Given the description of an element on the screen output the (x, y) to click on. 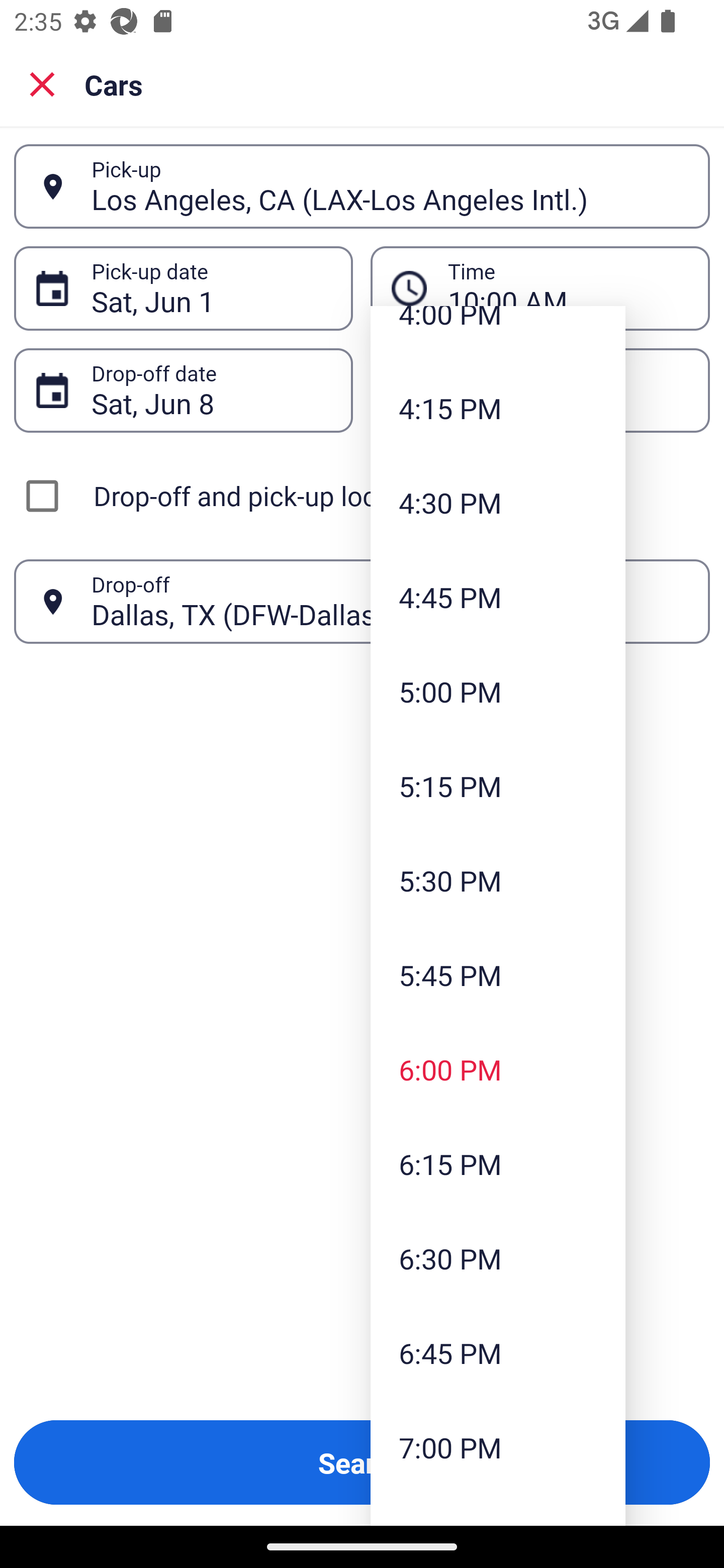
4:00 PM (497, 332)
4:15 PM (497, 407)
4:30 PM (497, 502)
4:45 PM (497, 597)
5:00 PM (497, 691)
5:15 PM (497, 785)
5:30 PM (497, 880)
5:45 PM (497, 975)
6:00 PM (497, 1069)
6:15 PM (497, 1163)
6:30 PM (497, 1258)
6:45 PM (497, 1353)
7:00 PM (497, 1447)
